Given the description of an element on the screen output the (x, y) to click on. 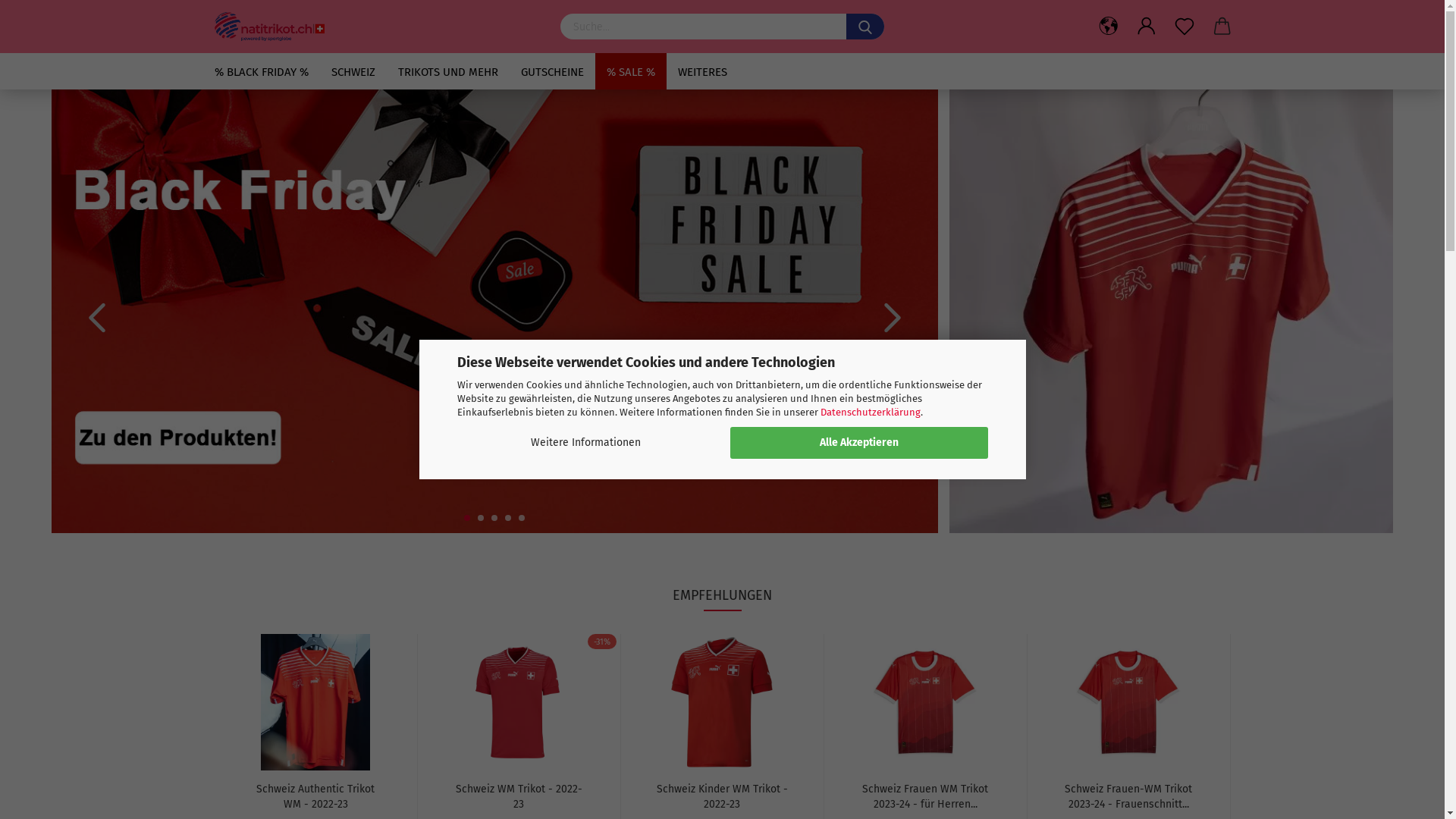
Schweiz Frauen-WM Trikot 2023-24 - Frauenschnitt Element type: hover (1127, 701)
Schweiz WM Trikot - 2022-23 Element type: hover (517, 701)
Schweiz Authentic Trikot WM - 2022-23 Element type: hover (314, 701)
Schweiz Kinder WM Trikot - 2022-23 Element type: hover (721, 701)
SCHWEIZ Element type: text (353, 71)
Schweiz Authentic Trikot WM - 2022-23 Element type: text (315, 794)
Schweiz WM Trikot - 2022-23 Element type: text (518, 794)
Alle Akzeptieren Element type: text (858, 442)
Schweiz Frauen-WM Trikot 2023-24 - Frauenschnitt... Element type: text (1128, 794)
Weitere Informationen Element type: text (585, 442)
% BLACK FRIDAY % Element type: text (261, 71)
Kroatien Trikot Element type: hover (494, 311)
TRIKOTS UND MEHR Element type: text (447, 71)
Schweiz Trikot 2022-23 Element type: hover (1171, 311)
% SALE % Element type: text (629, 71)
WEITERES Element type: text (701, 71)
NATITRIKOT.CH Element type: hover (375, 26)
Schweiz Kinder WM Trikot - 2022-23 Element type: text (722, 794)
GUTSCHEINE Element type: text (552, 71)
